Given the description of an element on the screen output the (x, y) to click on. 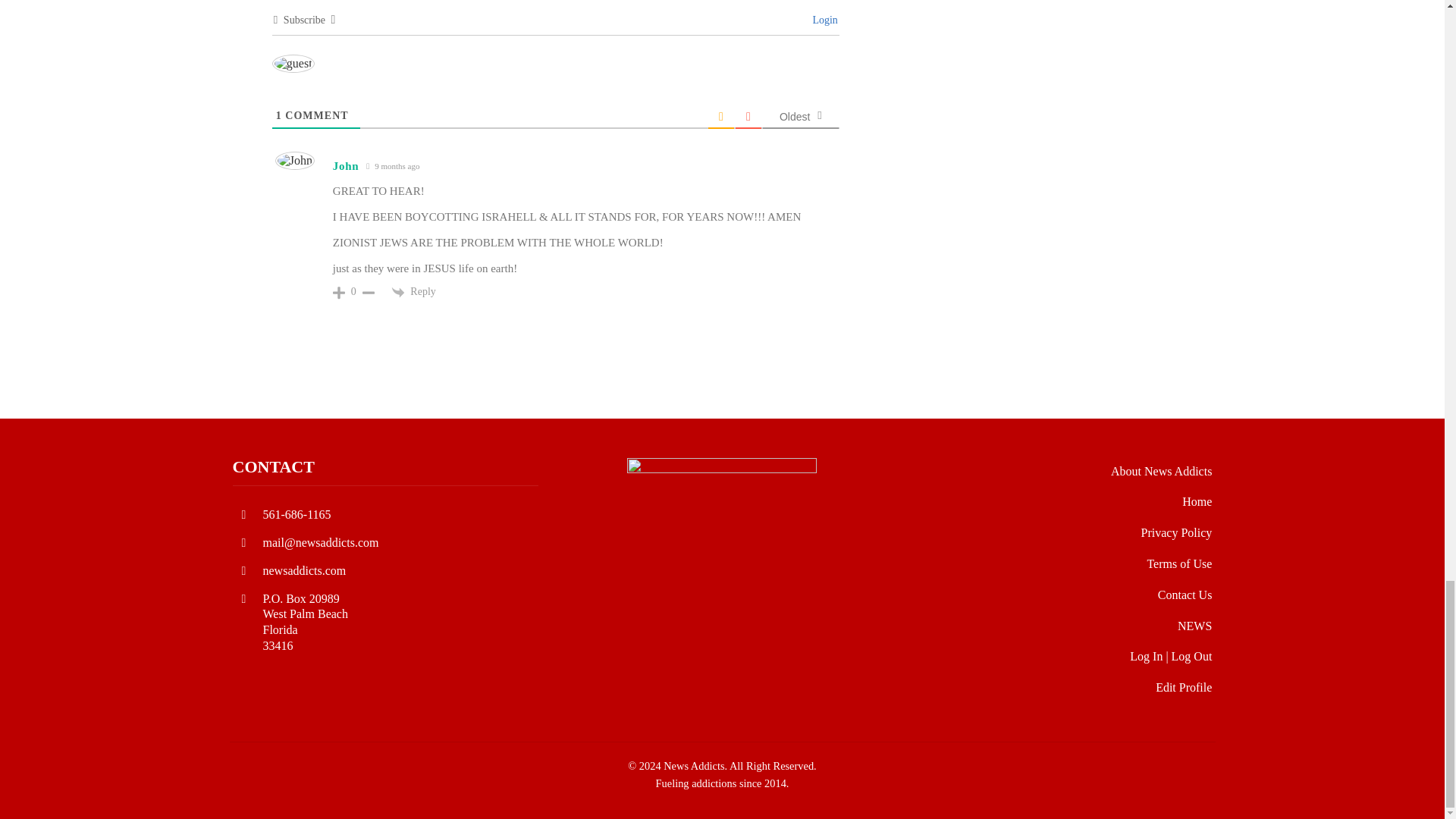
Login (823, 19)
